Given the description of an element on the screen output the (x, y) to click on. 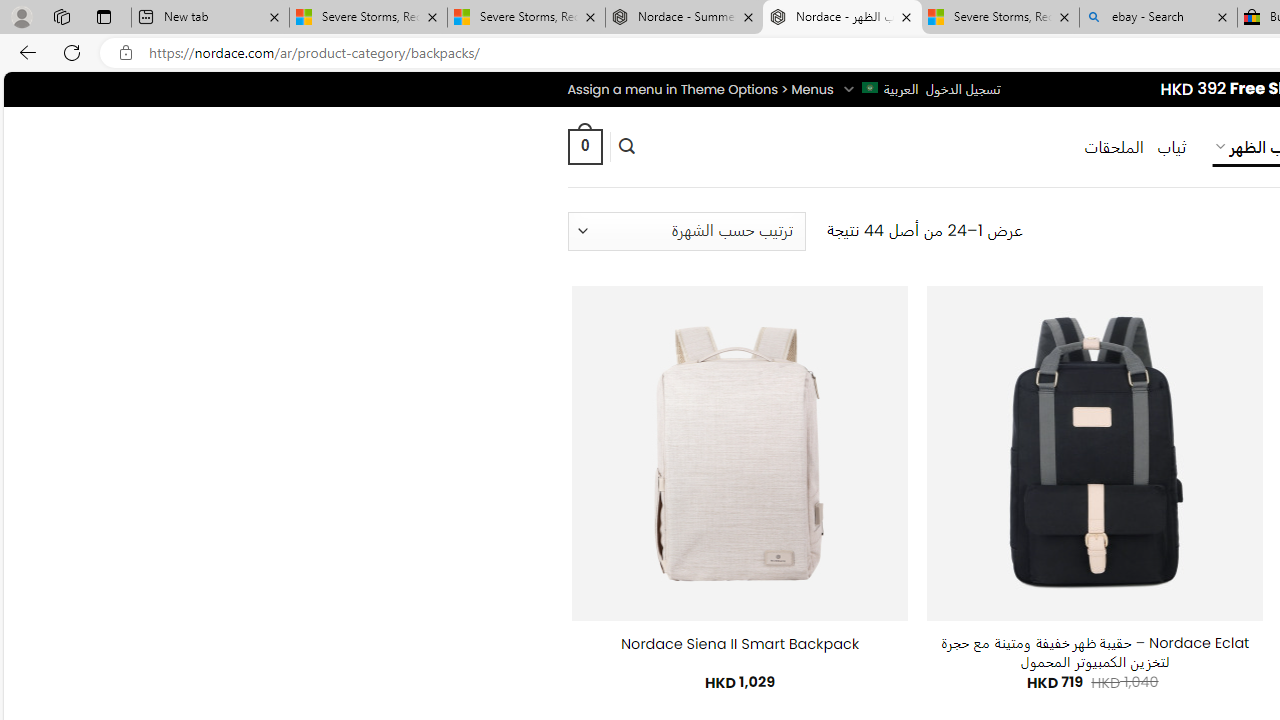
  0   (584, 146)
Nordace Siena II Smart Backpack (739, 643)
Assign a menu in Theme Options > Menus (700, 89)
